Given the description of an element on the screen output the (x, y) to click on. 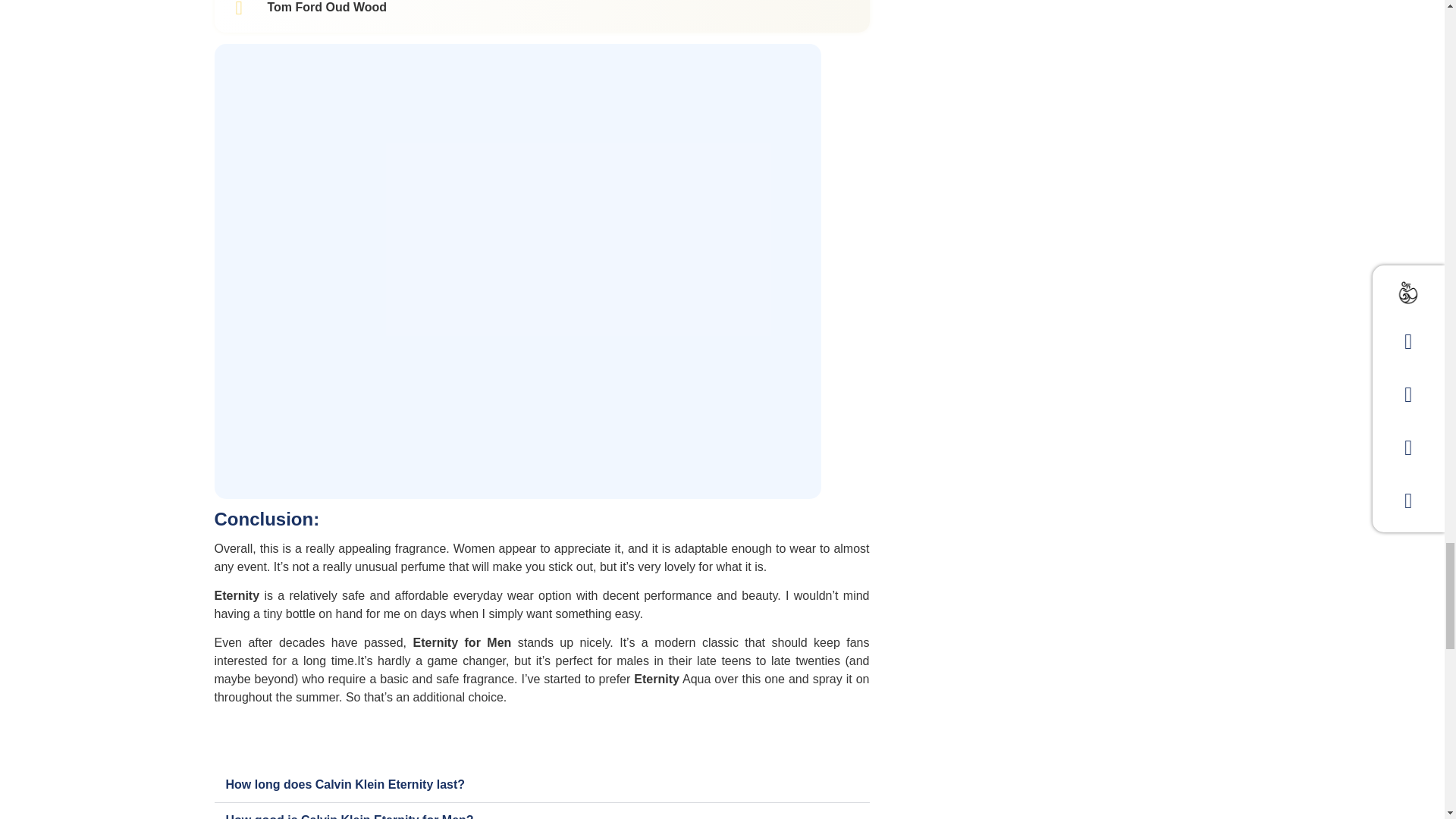
How good is Calvin Klein Eternity for Men? (349, 816)
How long does Calvin Klein Eternity last? (345, 784)
Tom Ford Oud Wood (326, 6)
